Given the description of an element on the screen output the (x, y) to click on. 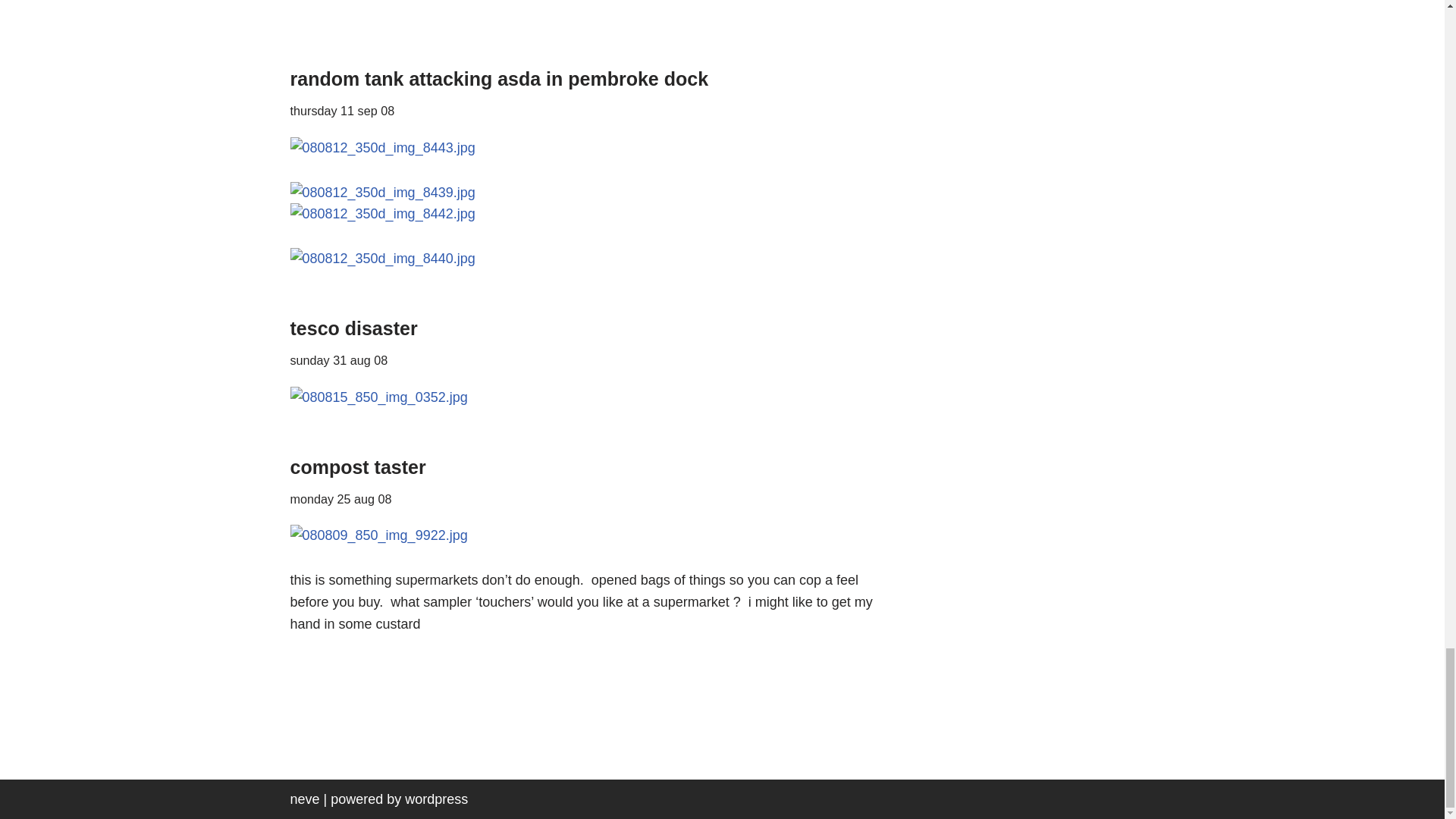
compost taster (357, 466)
tesco disaster (352, 328)
random tank attacking asda in pembroke dock (498, 78)
